Given the description of an element on the screen output the (x, y) to click on. 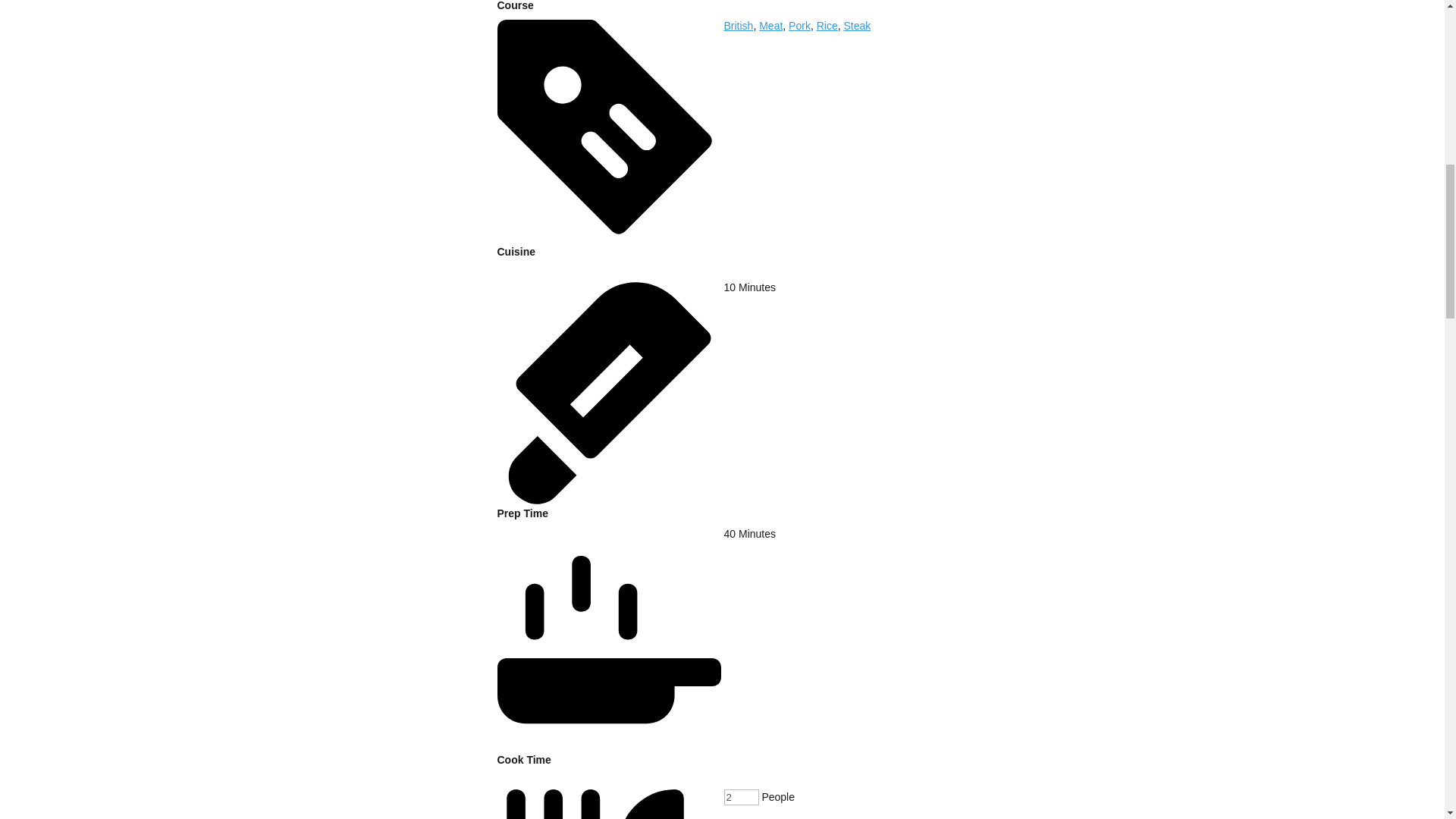
Meat (770, 25)
Rice (827, 25)
Steak (856, 25)
2 (740, 797)
Pork (799, 25)
British (737, 25)
